Given the description of an element on the screen output the (x, y) to click on. 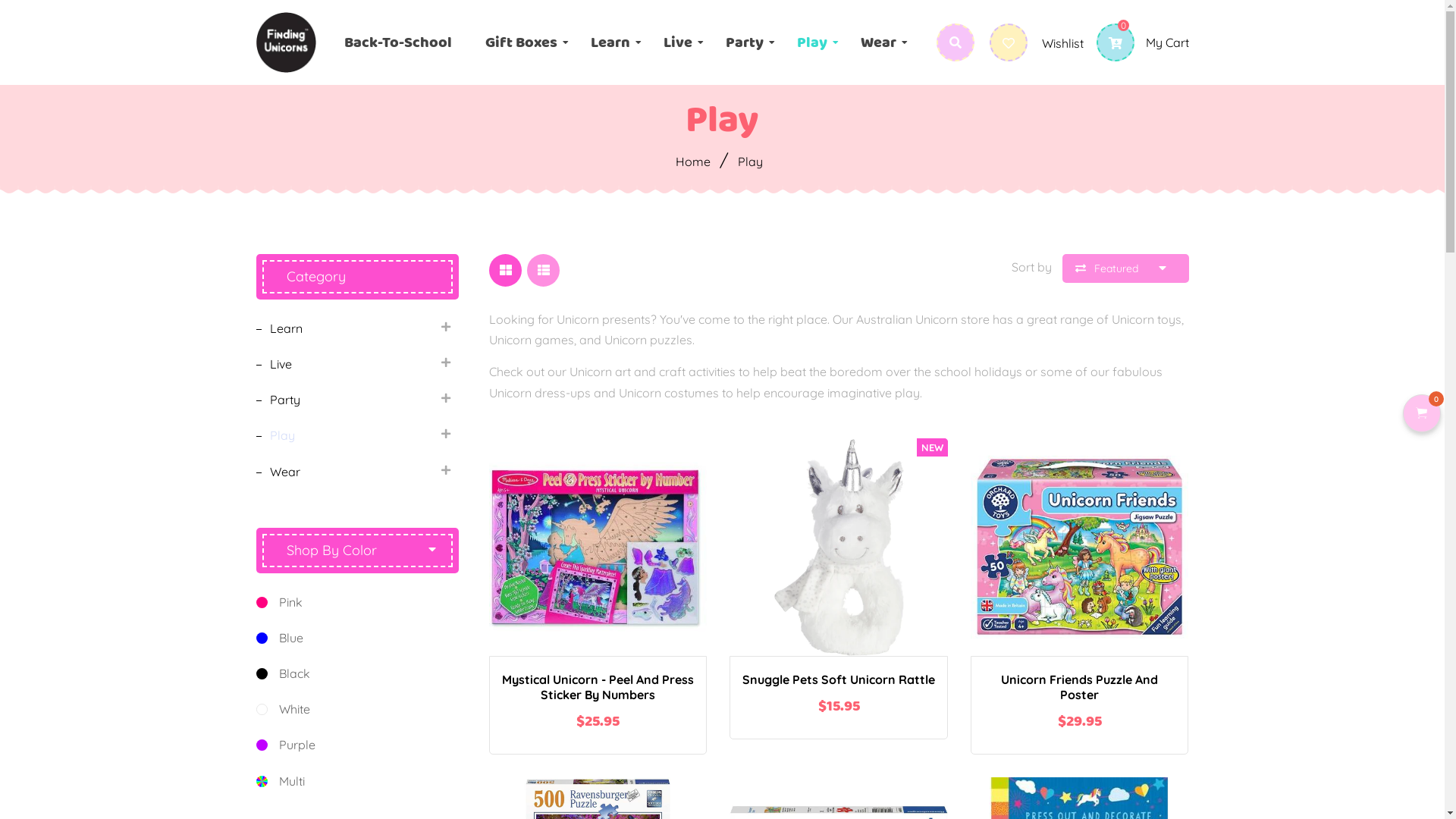
Learn Element type: text (345, 328)
Black Element type: text (357, 673)
List view Element type: hover (543, 270)
Live Element type: text (677, 42)
Wear Element type: text (878, 42)
Party Element type: text (744, 42)
Gift Boxes Element type: text (521, 42)
White Element type: text (357, 709)
0 Element type: text (1421, 413)
Party Element type: text (345, 399)
Wear Element type: text (345, 471)
Wishlist Element type: text (1035, 42)
0
My Cart Element type: text (1135, 42)
Play Element type: text (345, 435)
Purple Element type: text (357, 744)
Play Element type: text (811, 42)
Back-To-School Element type: text (398, 42)
Mystical Unicorn - Peel And Press Sticker By Numbers Element type: text (597, 686)
Live Element type: text (345, 364)
Grid view Element type: hover (505, 270)
Blue Element type: text (357, 637)
Multi Element type: text (357, 777)
Home Element type: text (694, 161)
Unicorn Friends Puzzle And Poster Element type: text (1079, 686)
Featured Element type: text (1125, 268)
Pink Element type: text (357, 602)
Learn Element type: text (610, 42)
Snuggle Pets Soft Unicorn Rattle Element type: text (838, 679)
